Given the description of an element on the screen output the (x, y) to click on. 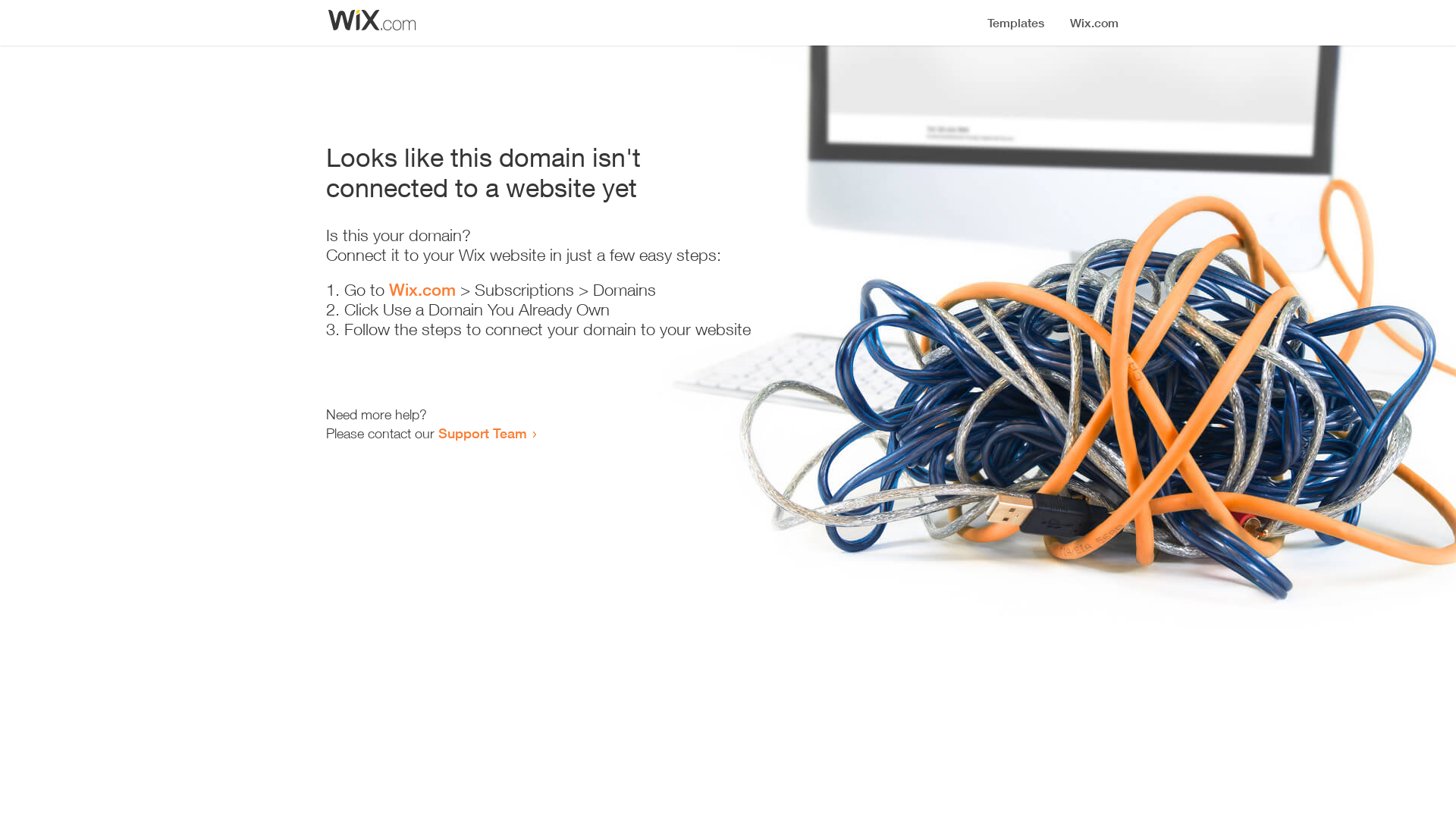
Support Team Element type: text (482, 432)
Wix.com Element type: text (422, 289)
